Given the description of an element on the screen output the (x, y) to click on. 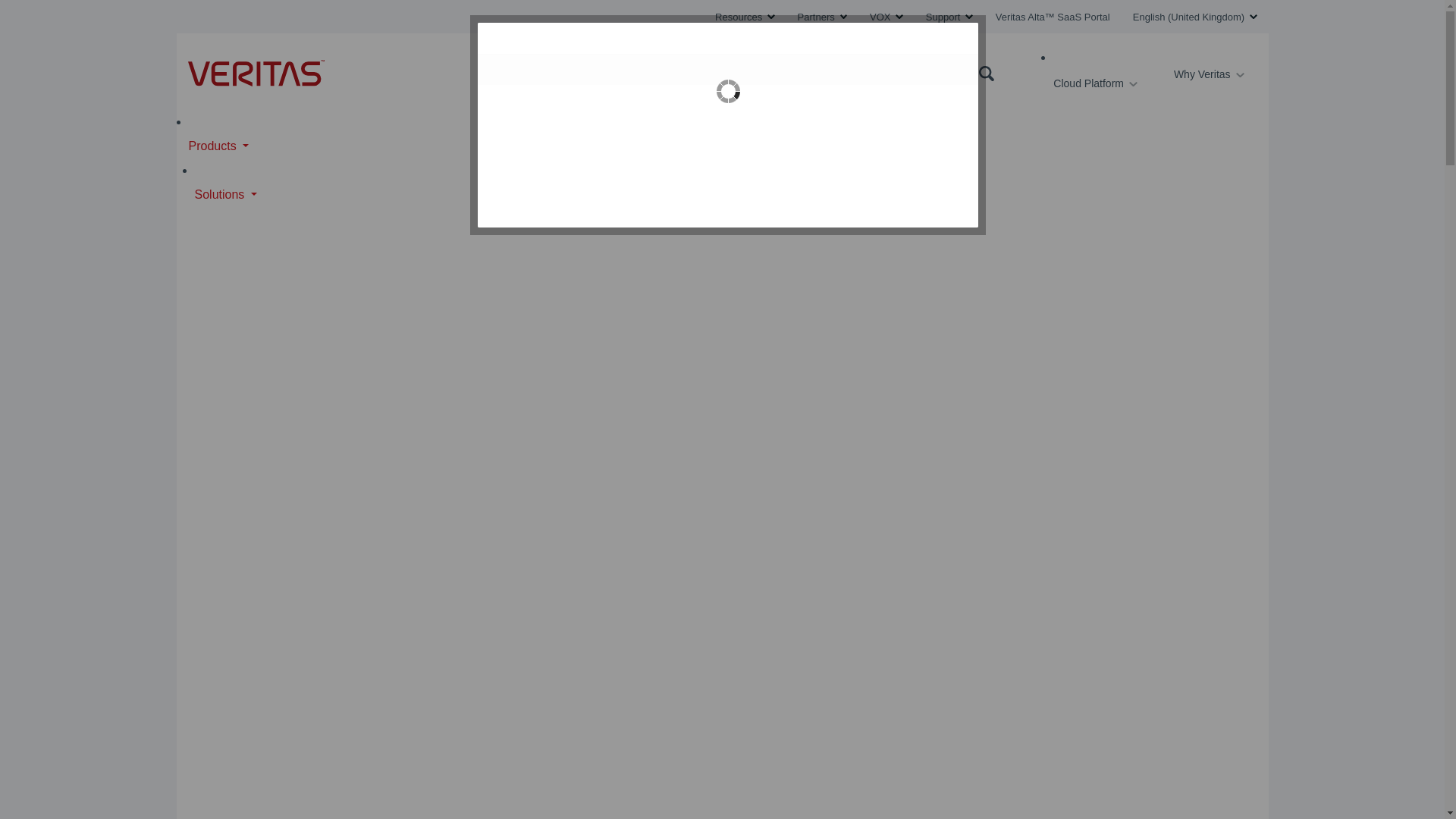
Partners (822, 16)
VOX (885, 16)
Resources (744, 16)
TrustArc Cookie Consent Manager (727, 124)
Support (949, 16)
